Given the description of an element on the screen output the (x, y) to click on. 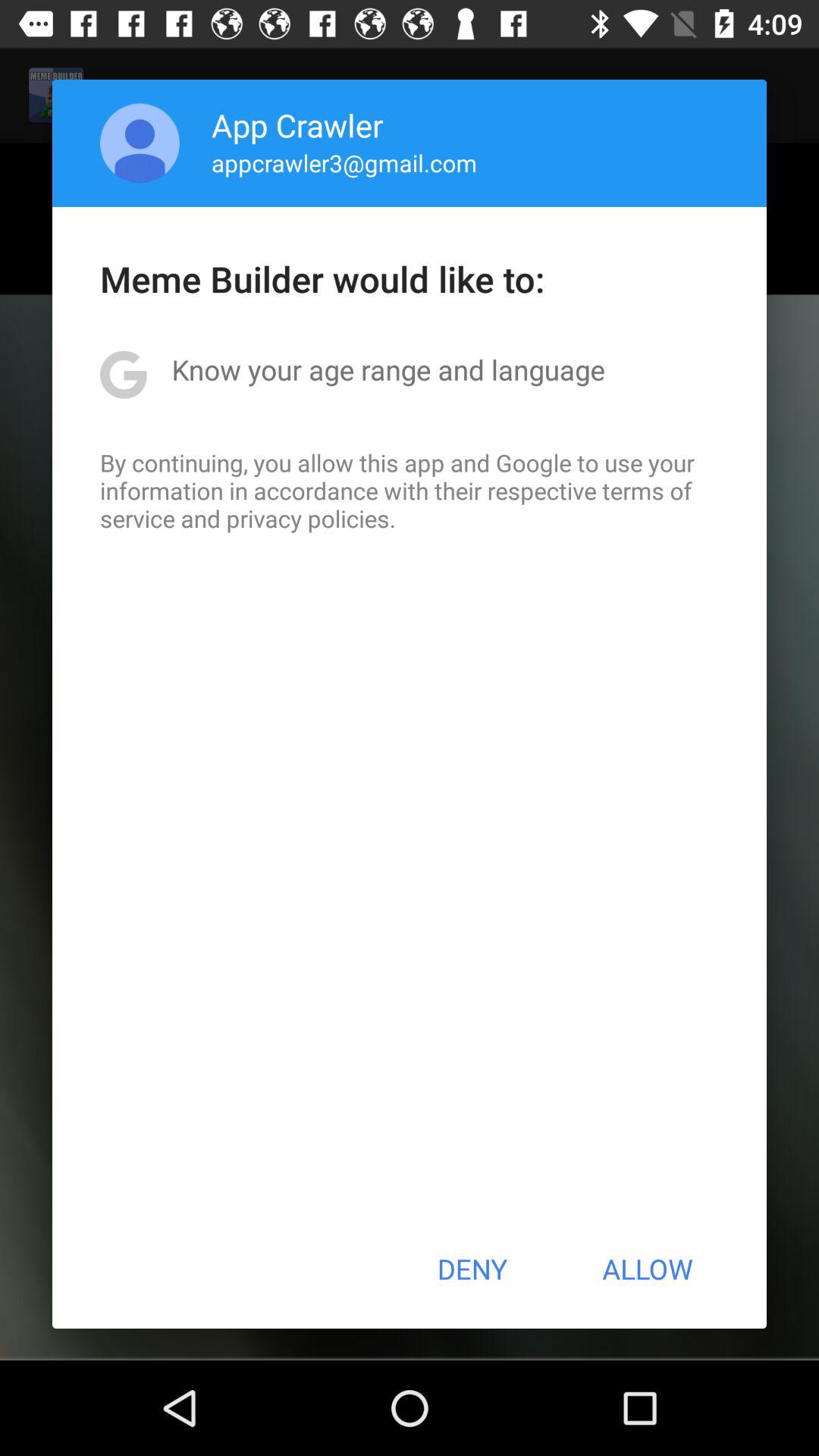
choose item at the bottom (471, 1268)
